Given the description of an element on the screen output the (x, y) to click on. 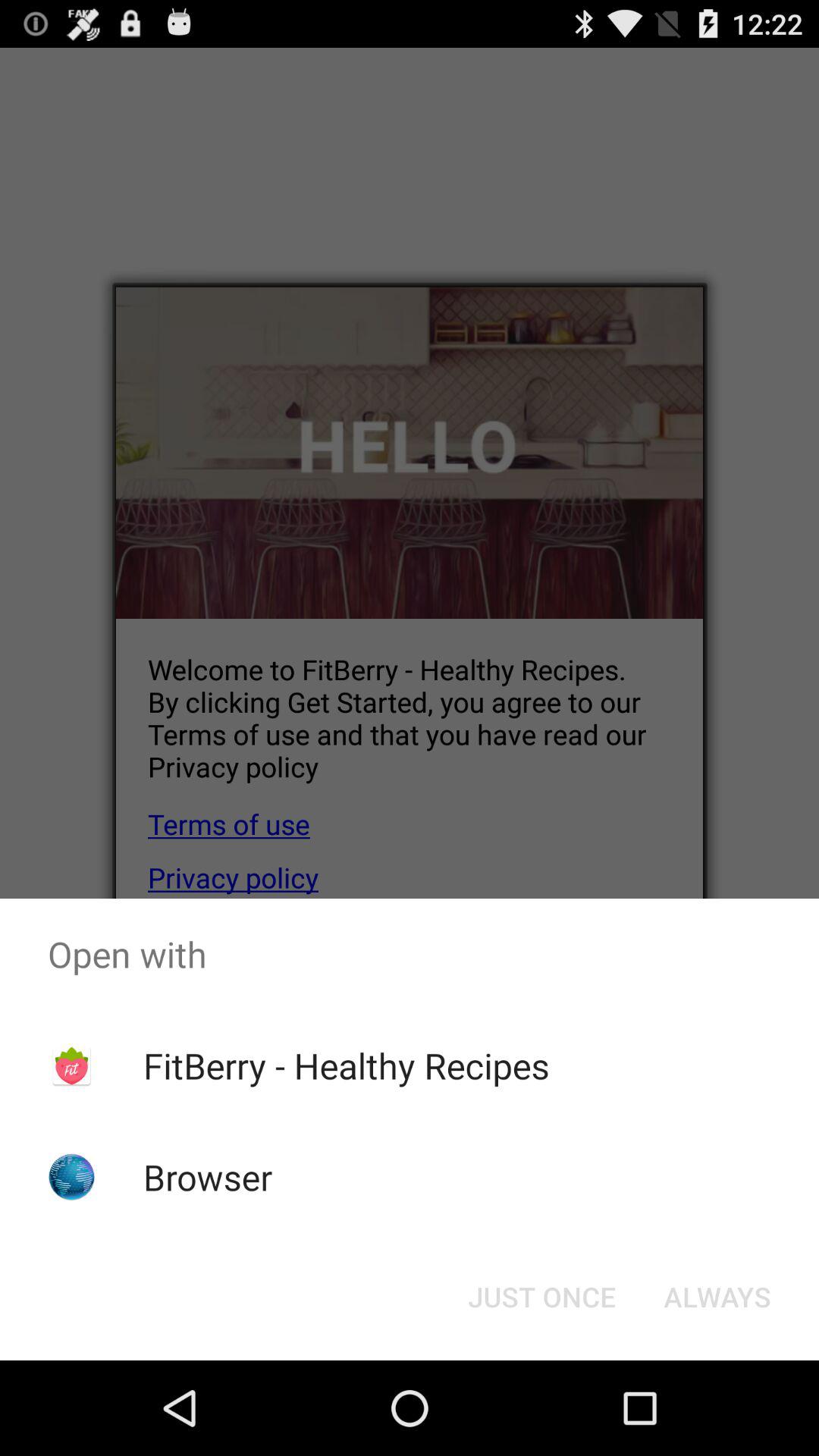
turn on fitberry - healthy recipes (346, 1065)
